Given the description of an element on the screen output the (x, y) to click on. 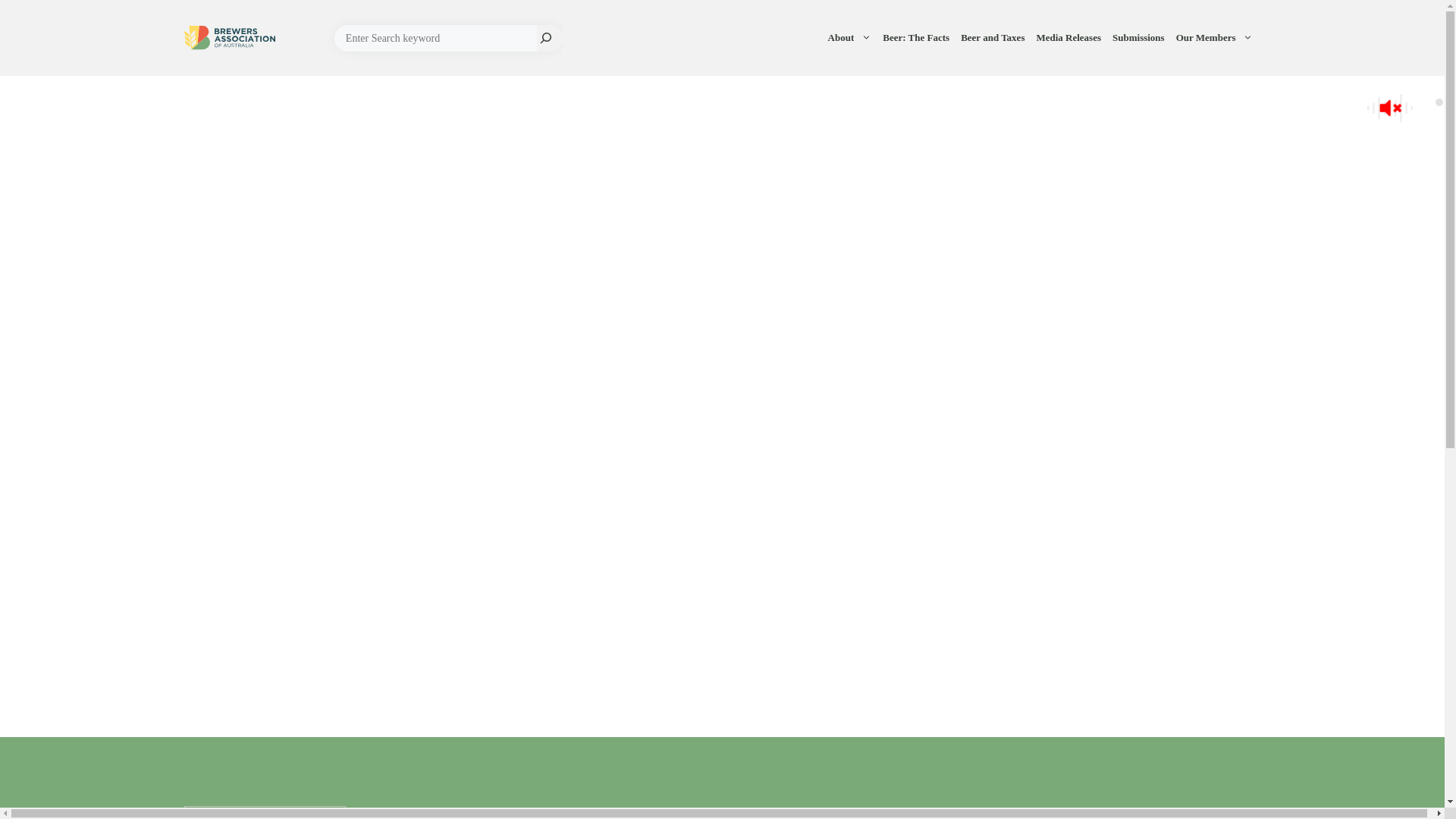
Media Releases Element type: text (1070, 37)
About Element type: text (851, 37)
Our Members Element type: text (1216, 37)
Submissions Element type: text (1140, 37)
Beer: The Facts Element type: text (917, 37)
Beer and Taxes Element type: text (994, 37)
